Given the description of an element on the screen output the (x, y) to click on. 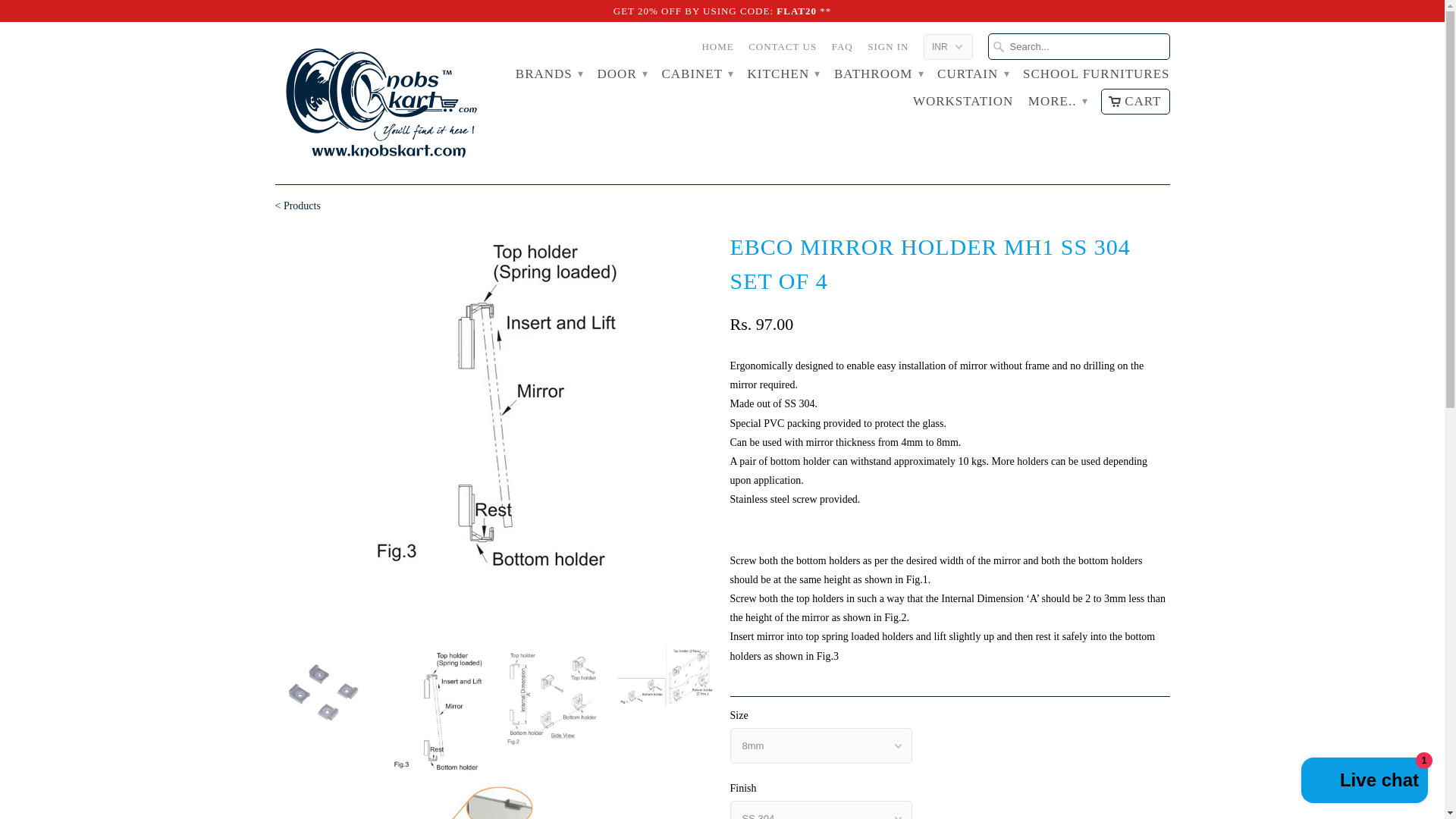
SIGN IN (887, 50)
FAQ (842, 50)
Cart (1134, 101)
CONTACT US (782, 50)
Home (717, 50)
HOME (717, 50)
FAQ (842, 50)
Contact Us (782, 50)
